Given the description of an element on the screen output the (x, y) to click on. 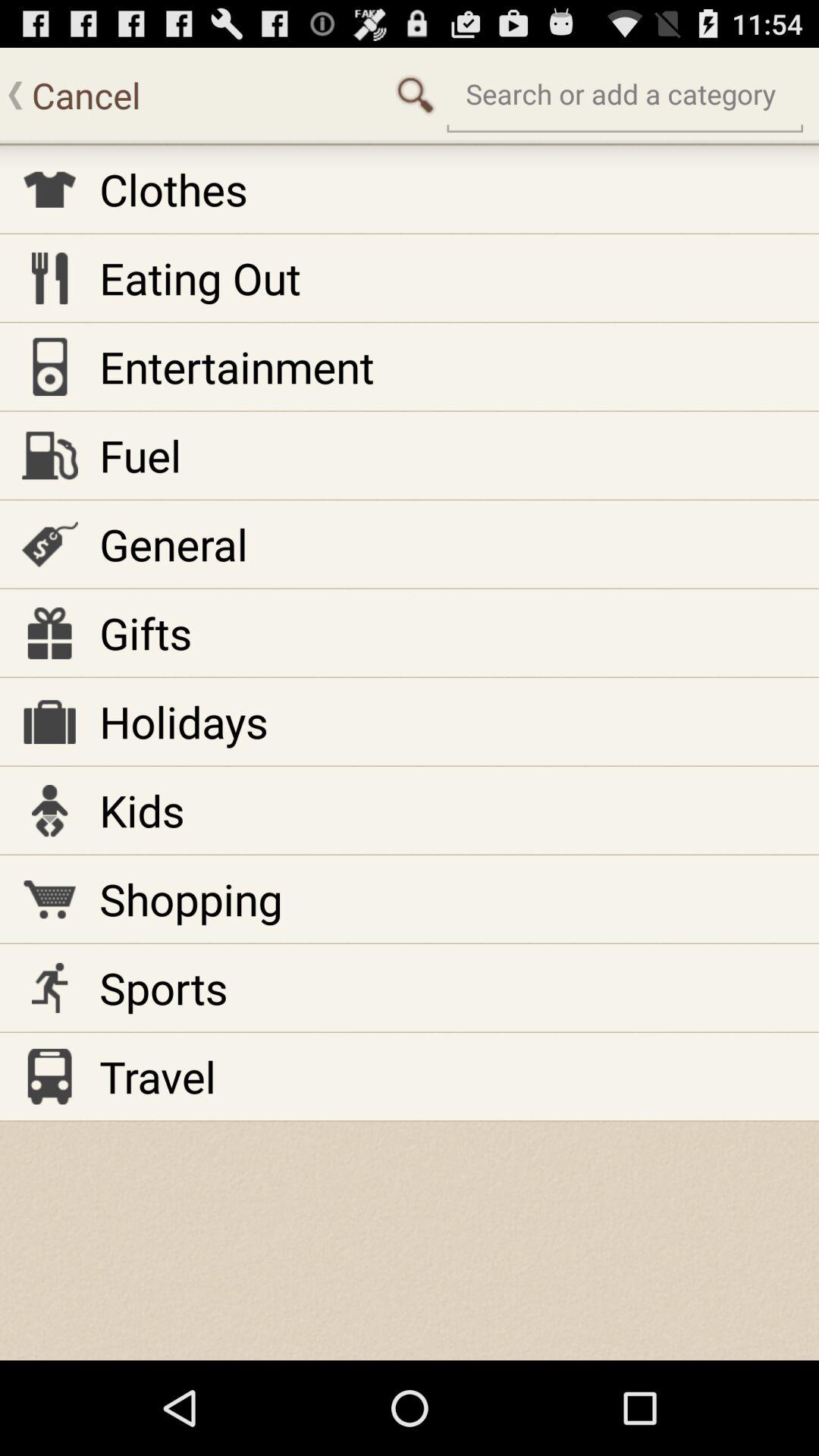
jump until the entertainment icon (236, 366)
